Given the description of an element on the screen output the (x, y) to click on. 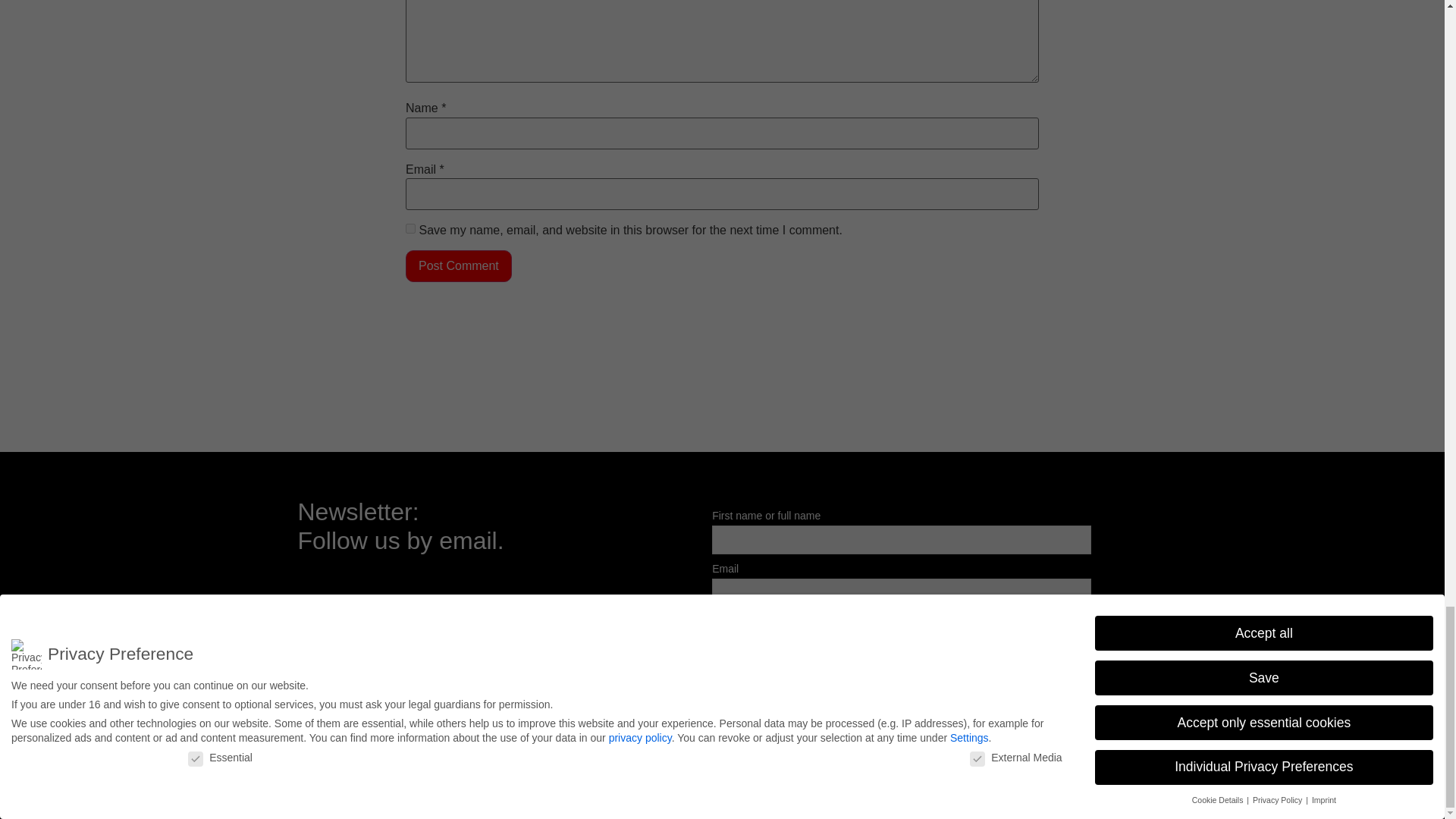
yes (410, 228)
Post Comment (459, 265)
Imprint (1043, 763)
I accept the Privacy Statement (802, 621)
Subscribe (750, 654)
Subscribe (750, 654)
Post Comment (459, 265)
on (716, 620)
Privacy Policy (1109, 763)
